Given the description of an element on the screen output the (x, y) to click on. 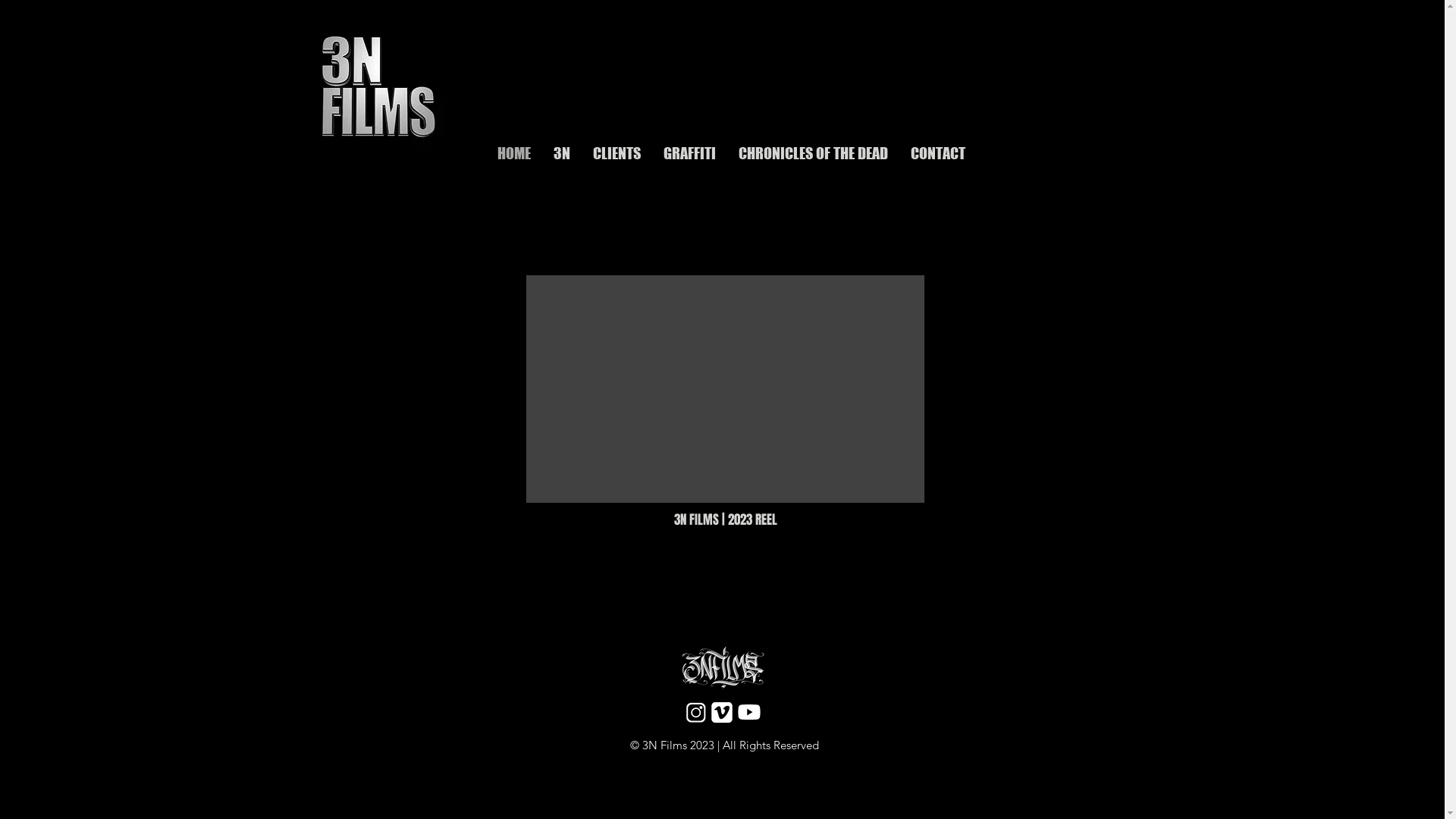
CONTACT Element type: text (937, 150)
External Vimeo Element type: hover (724, 388)
CLIENTS Element type: text (615, 150)
CHRONICLES OF THE DEAD Element type: text (812, 150)
3N Element type: text (560, 150)
HOME Element type: text (513, 150)
GRAFFITI Element type: text (689, 150)
